Given the description of an element on the screen output the (x, y) to click on. 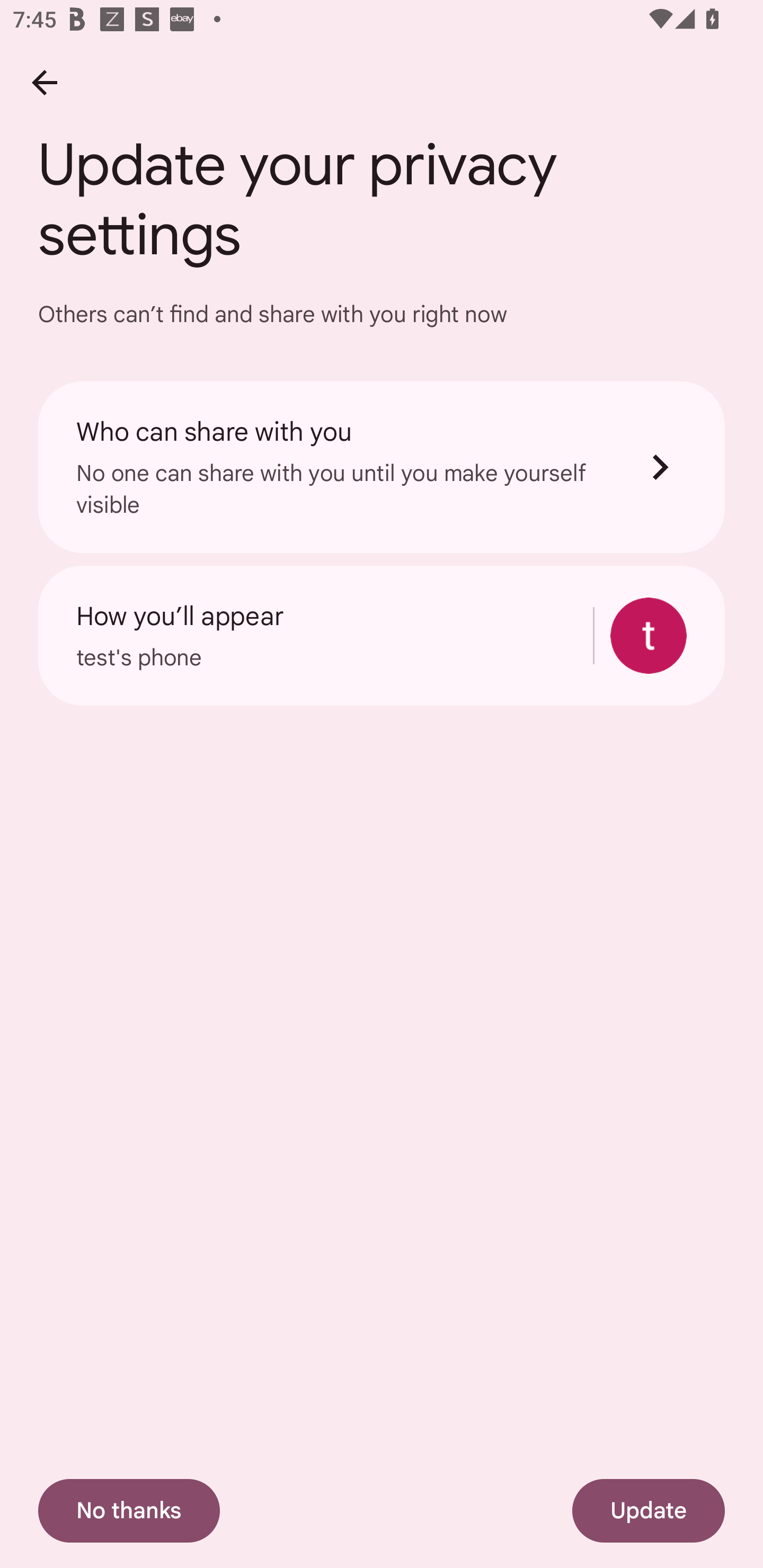
Back (44, 81)
Signed in as testappium002@gmail.com (648, 635)
No thanks (128, 1510)
Update (648, 1510)
